Given the description of an element on the screen output the (x, y) to click on. 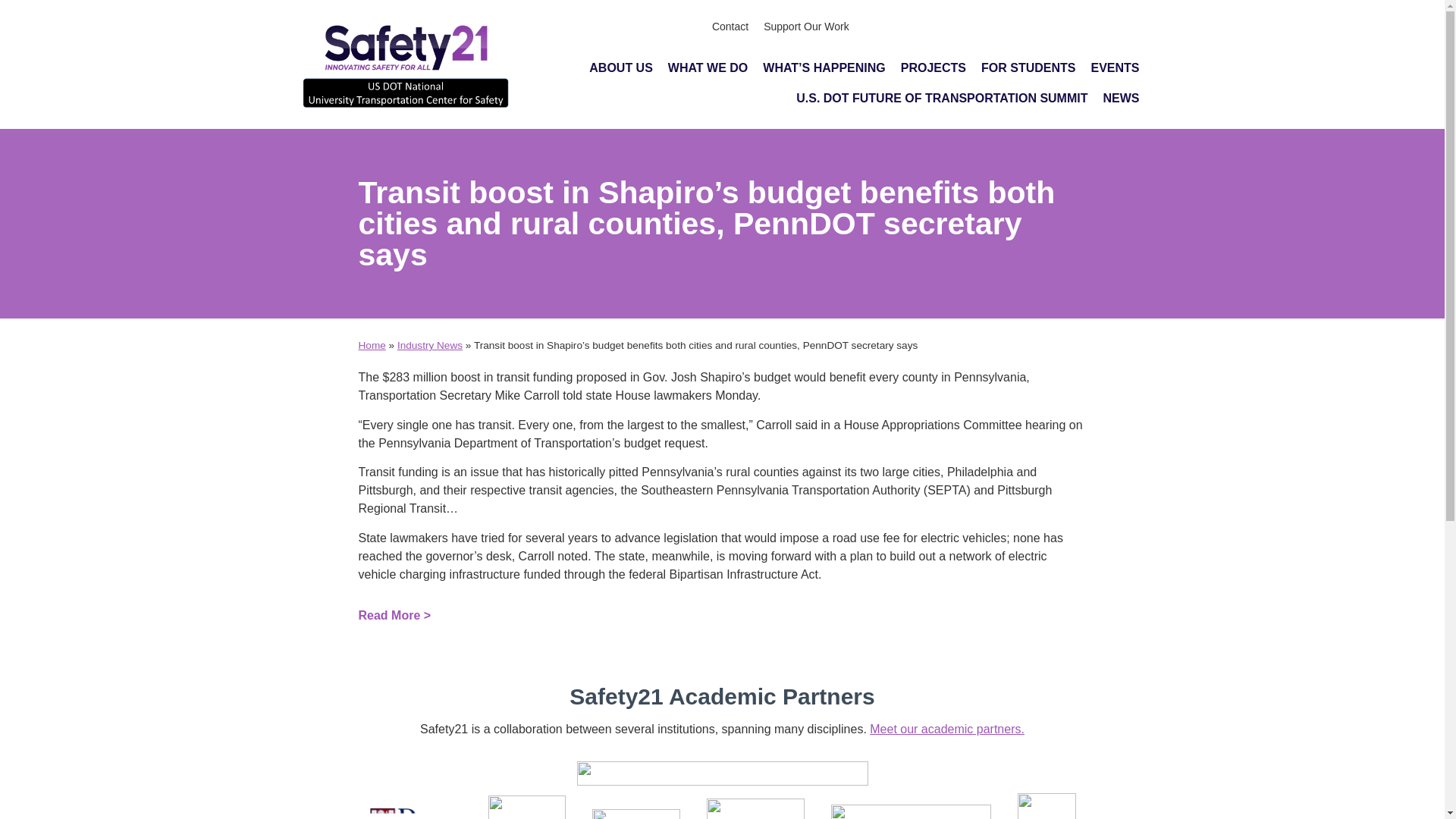
PROJECTS (933, 68)
FOR STUDENTS (1028, 68)
ABOUT US (620, 68)
US DOT REPORTS (1076, 26)
ACCOMPLISHMENTS (933, 26)
Support Our Work (806, 26)
WHAT WE DO (708, 68)
Contact (729, 26)
